Given the description of an element on the screen output the (x, y) to click on. 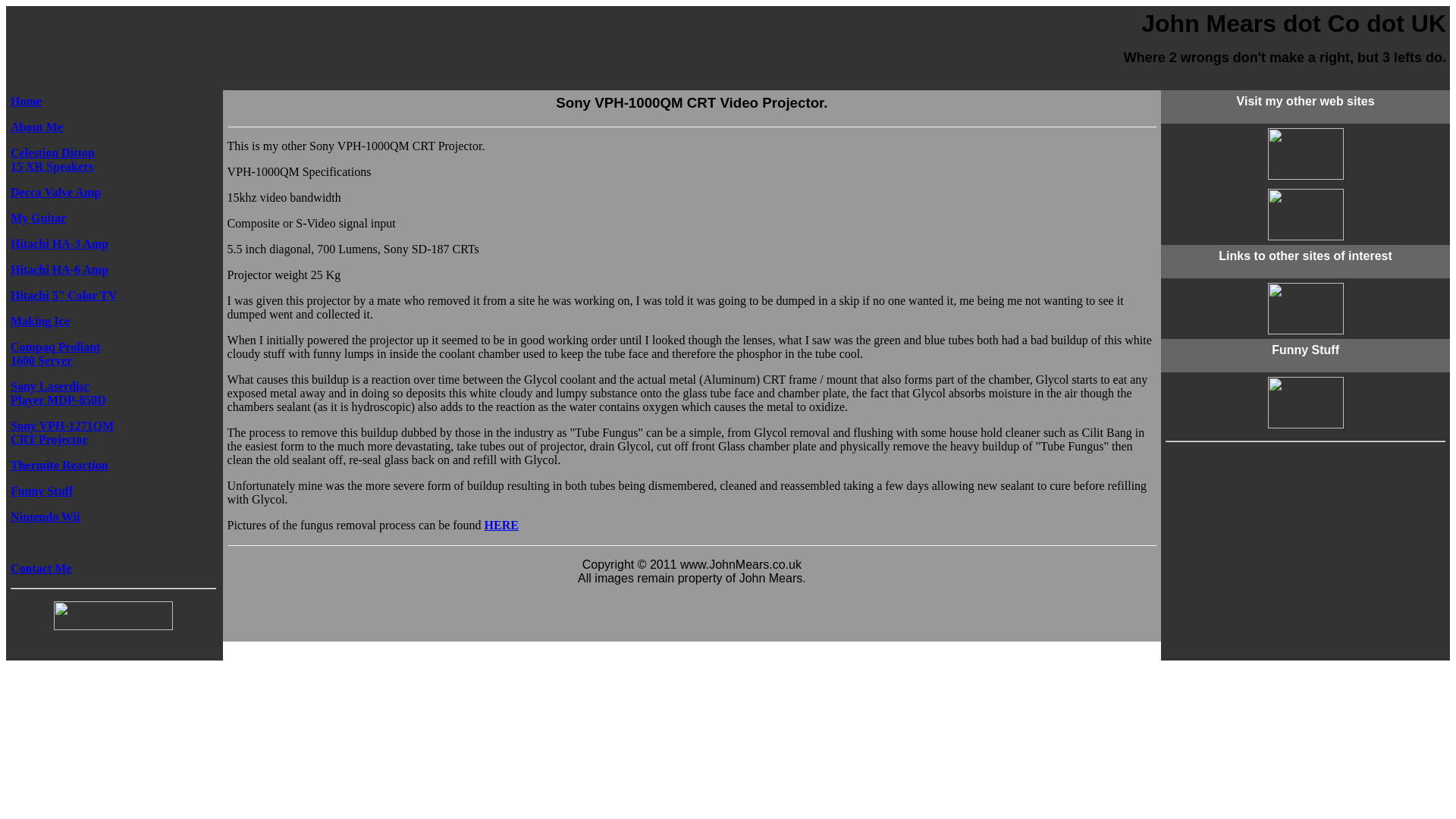
Hitachi HA-3 Amp (58, 243)
Home (26, 101)
Thermite Reaction (58, 464)
Decca Valve Amp (55, 192)
HERE (55, 353)
Contact Me (501, 524)
Making Ice (40, 567)
Funny Stuff (39, 320)
